Given the description of an element on the screen output the (x, y) to click on. 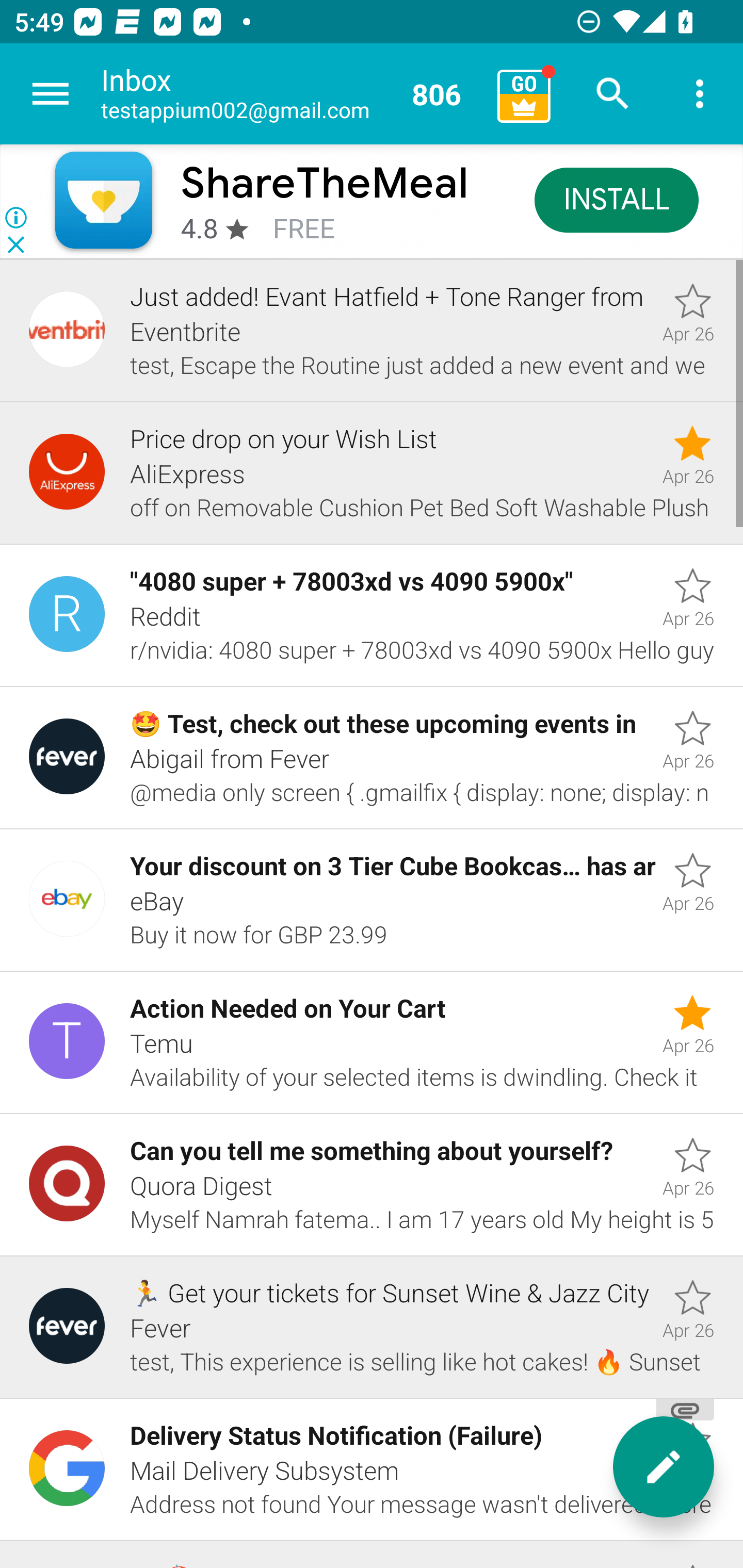
Navigate up (50, 93)
Inbox testappium002@gmail.com 806 (291, 93)
Search (612, 93)
More options (699, 93)
ShareTheMeal (324, 183)
INSTALL (615, 199)
New message (663, 1466)
